Given the description of an element on the screen output the (x, y) to click on. 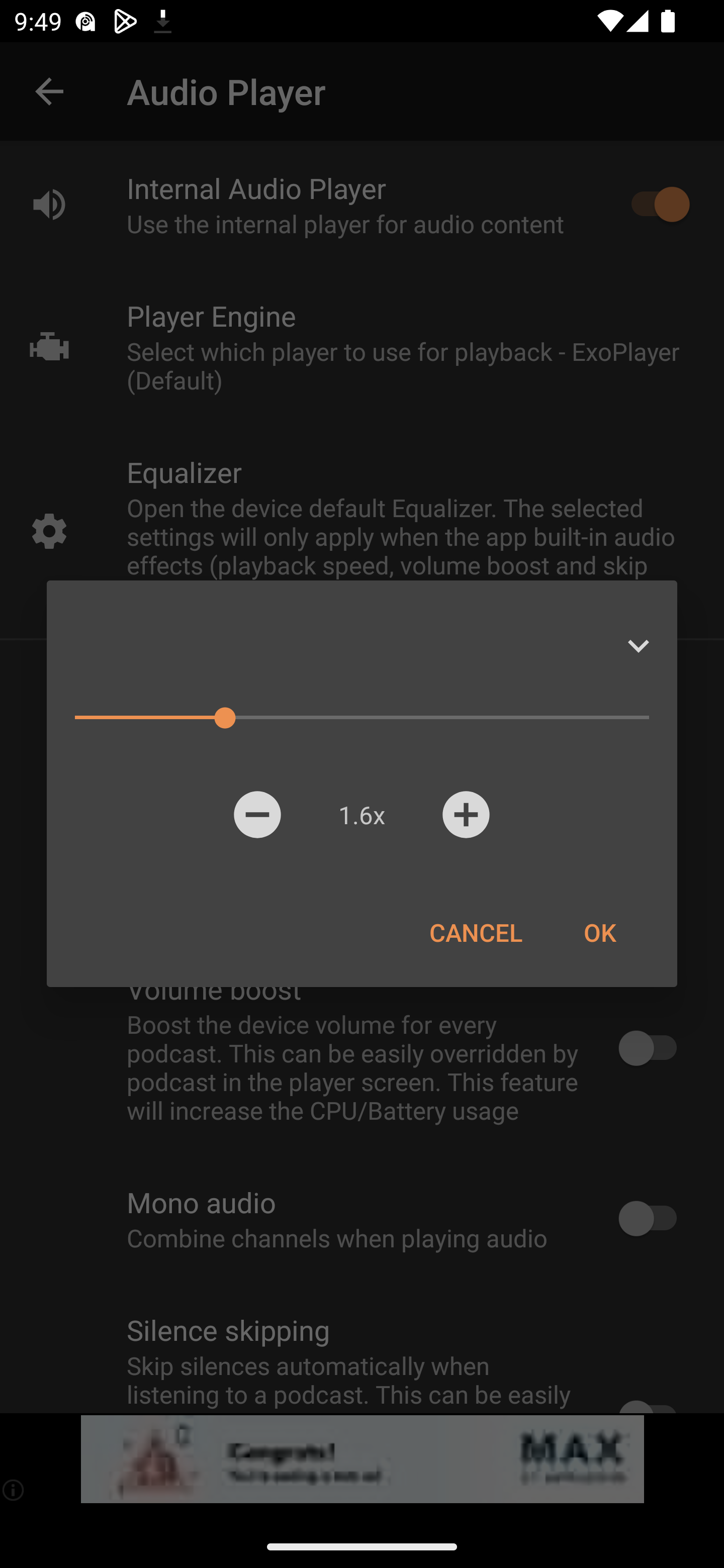
Expand (637, 645)
1.6x (361, 814)
CANCEL (475, 932)
OK (599, 932)
